Given the description of an element on the screen output the (x, y) to click on. 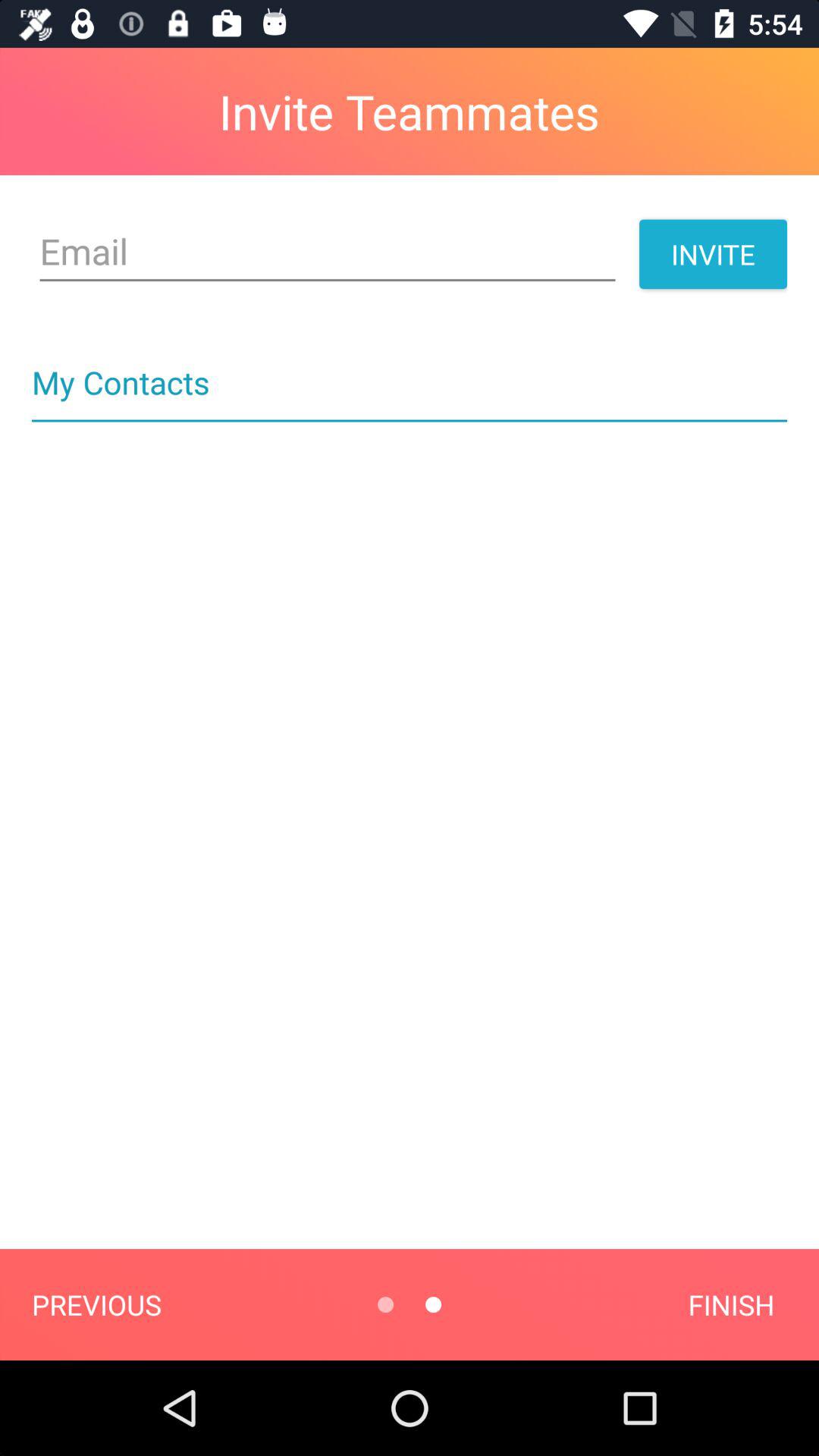
launch icon below my contacts icon (409, 420)
